Given the description of an element on the screen output the (x, y) to click on. 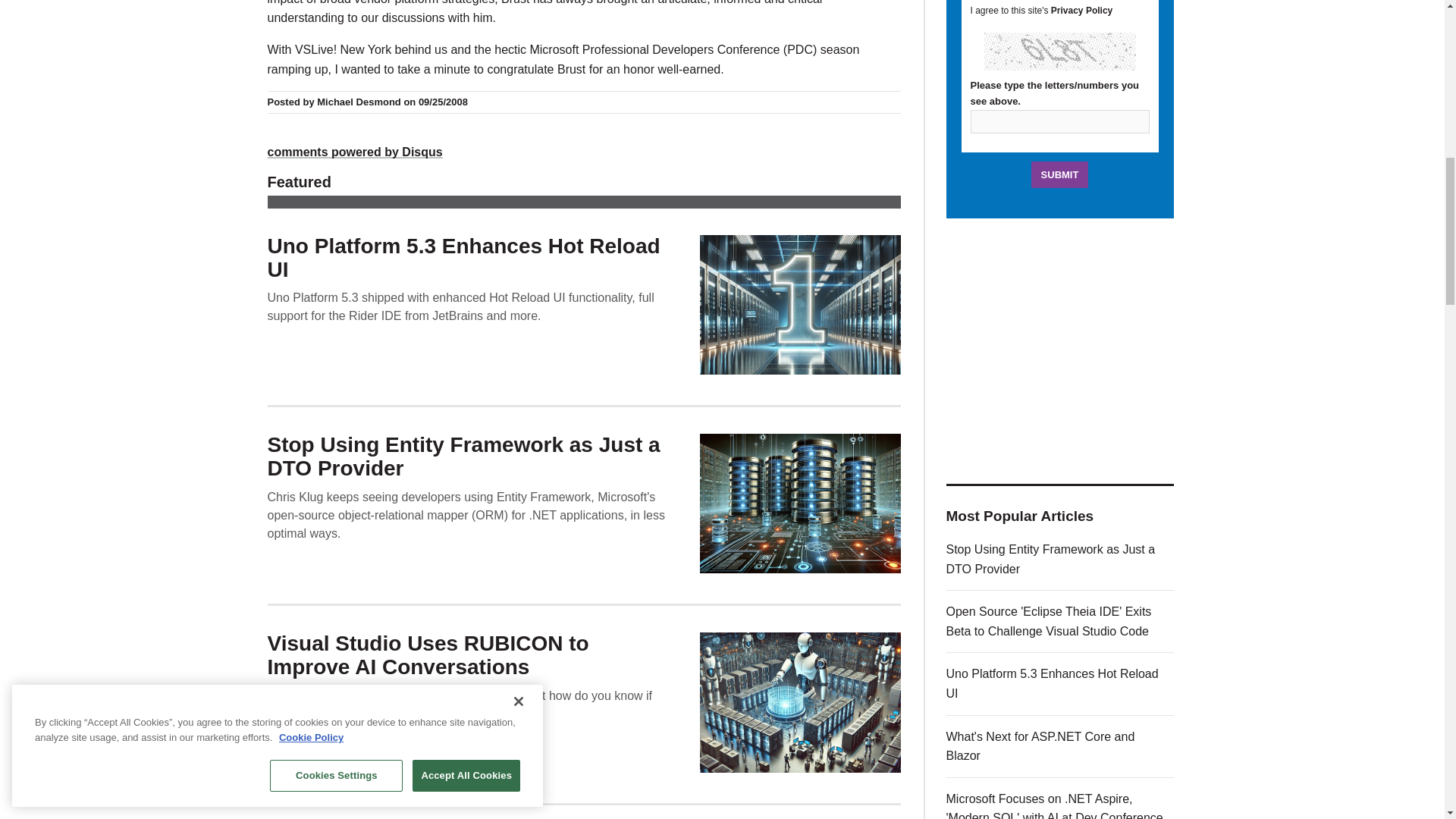
3rd party ad content (1059, 350)
Submit (1059, 174)
